Given the description of an element on the screen output the (x, y) to click on. 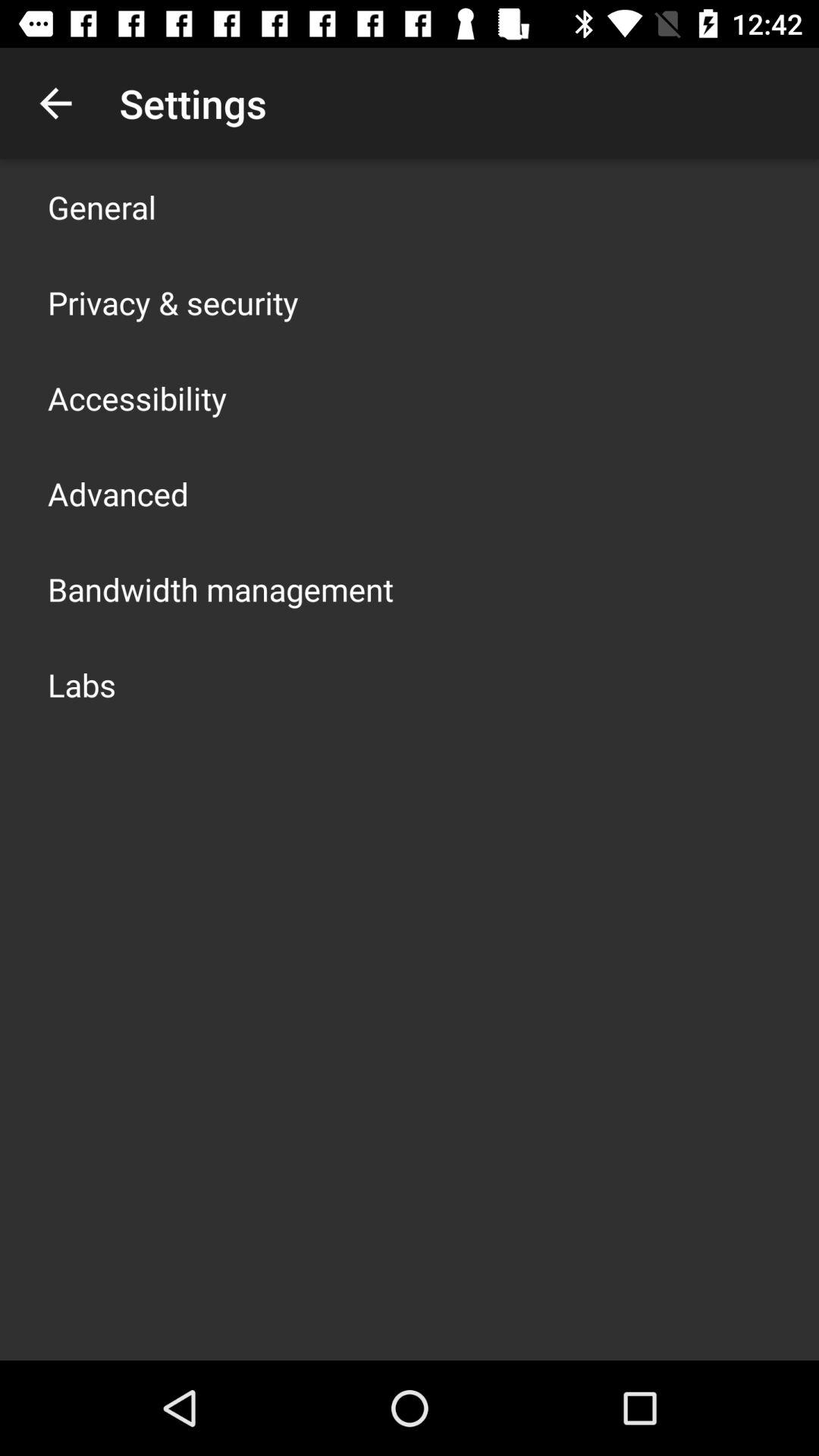
scroll to the labs app (81, 684)
